Given the description of an element on the screen output the (x, y) to click on. 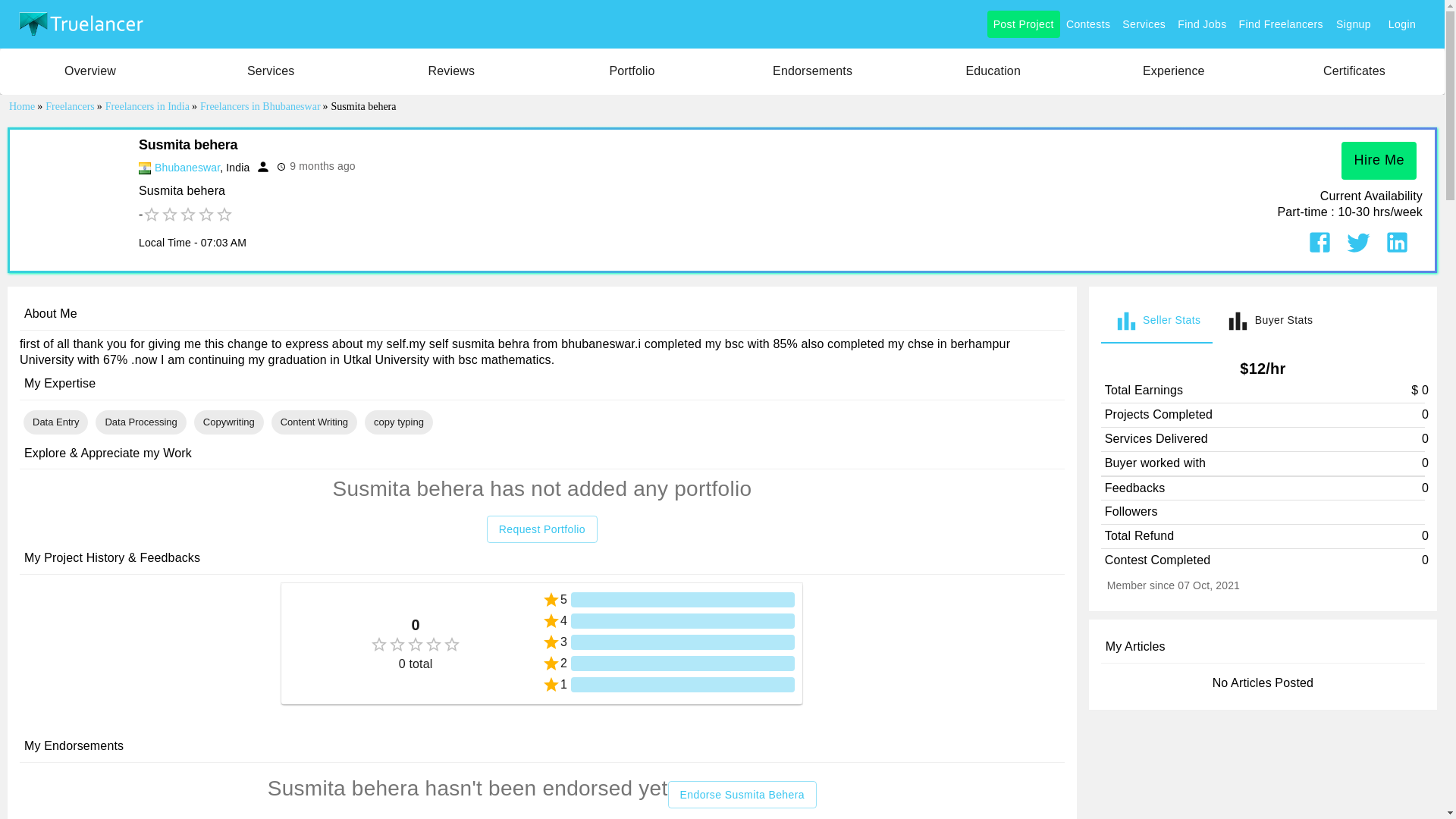
Home (22, 106)
Freelancers in Bhubaneswar (186, 167)
Login (1401, 24)
Hire Me (1378, 160)
Seller Stats (1156, 320)
Signup (1353, 24)
Find Freelancers (1281, 24)
Contests (1087, 24)
Bhubaneswar (186, 167)
Freelancers (71, 106)
